Given the description of an element on the screen output the (x, y) to click on. 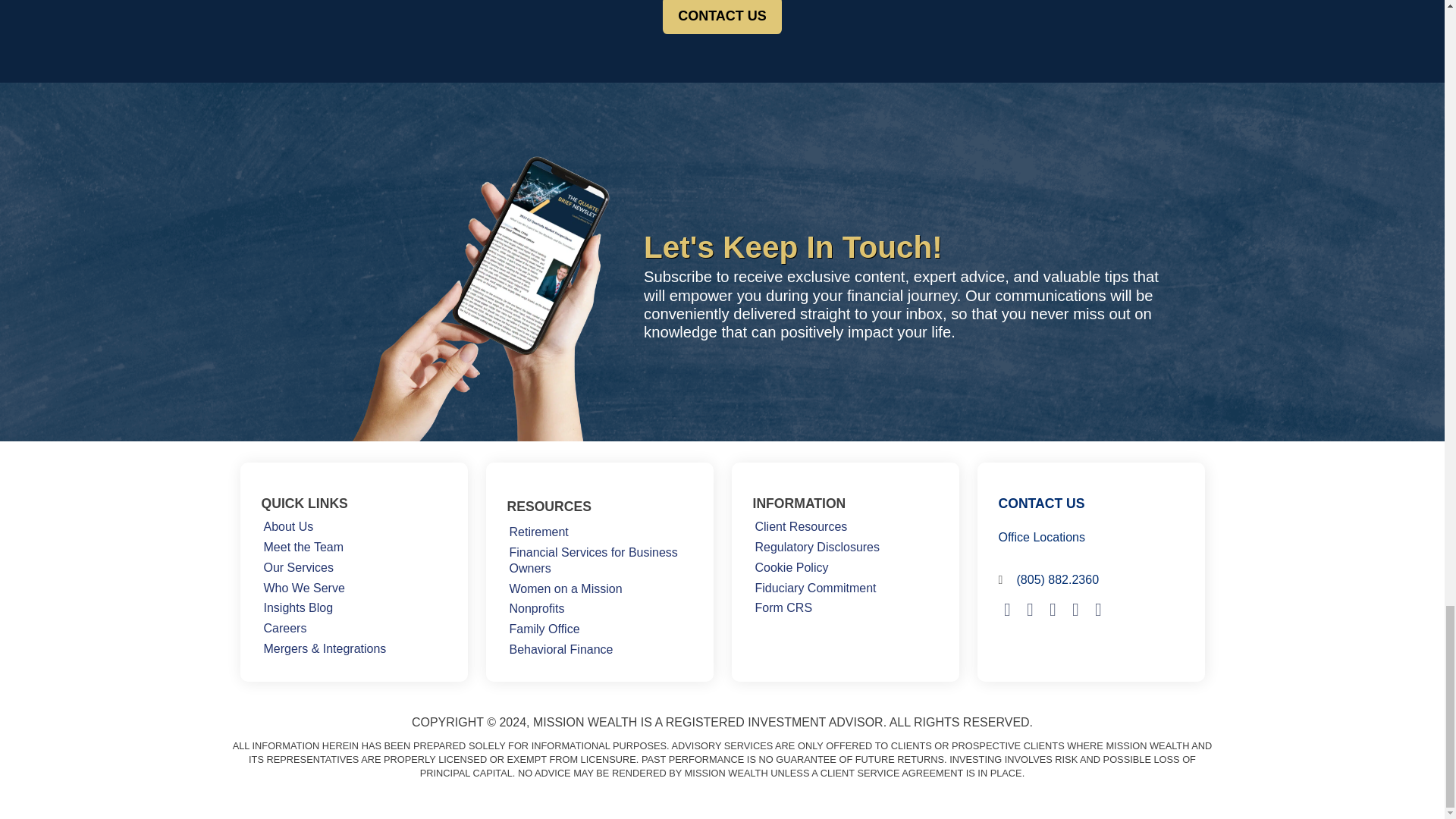
Who We Serve (303, 588)
Financial Services for Business Owners (598, 560)
Behavioral Finance (560, 649)
Our Services (297, 567)
Meet the Team (303, 547)
About Us (287, 526)
Insights Blog (297, 608)
Family Office (543, 629)
CONTACT US (721, 17)
Retirement (538, 532)
